Given the description of an element on the screen output the (x, y) to click on. 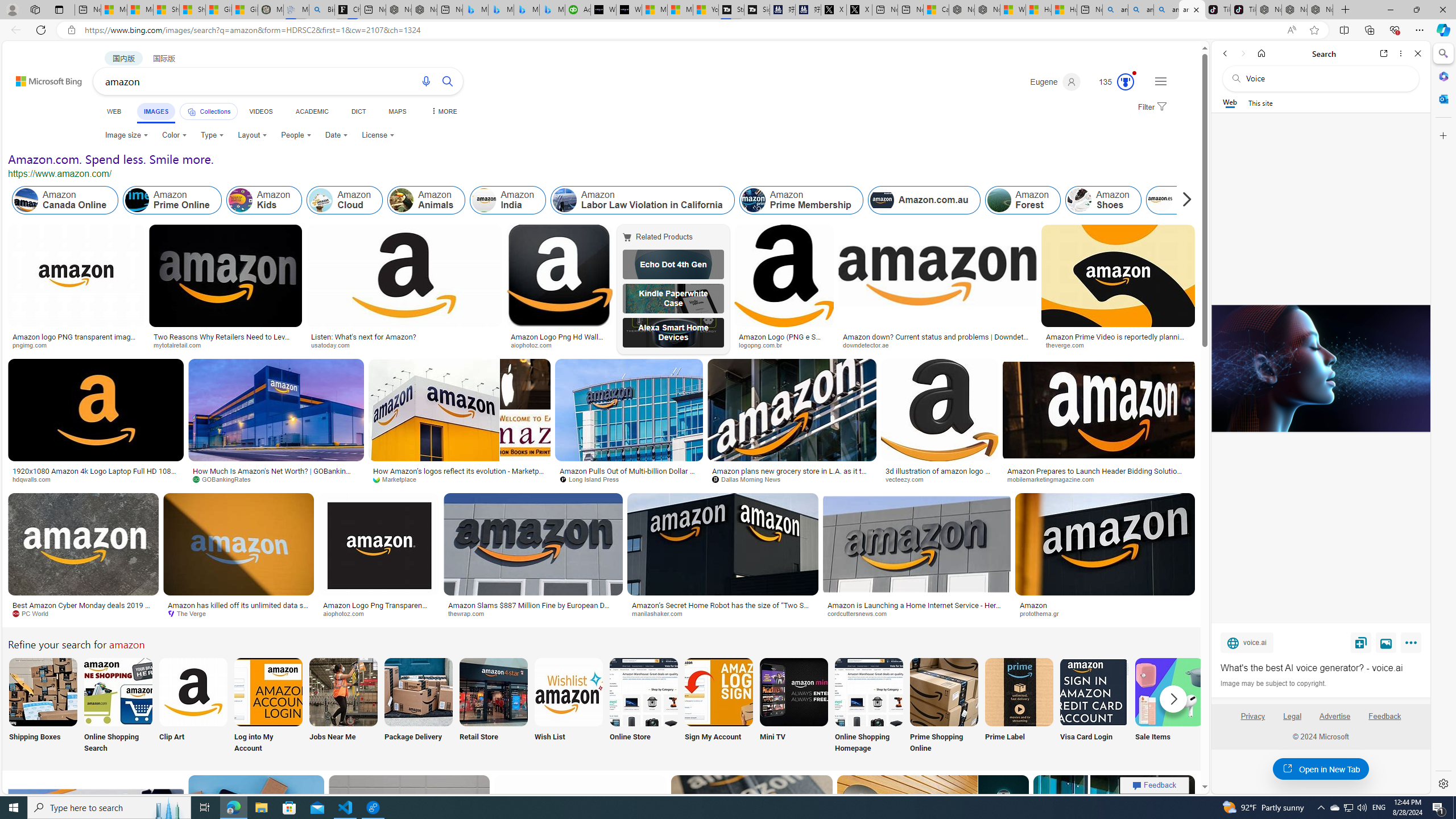
Web scope (1230, 102)
Manatee Mortality Statistics | FWC (270, 9)
Two Reasons Why Retailers Need to Leverage Amazon (224, 340)
Amazon (1105, 605)
Back to Bing search (41, 78)
This site scope (1259, 102)
Amazon Echo Dot 4th Gen (673, 264)
Package Delivery (418, 706)
GOBankingRates (225, 479)
